Given the description of an element on the screen output the (x, y) to click on. 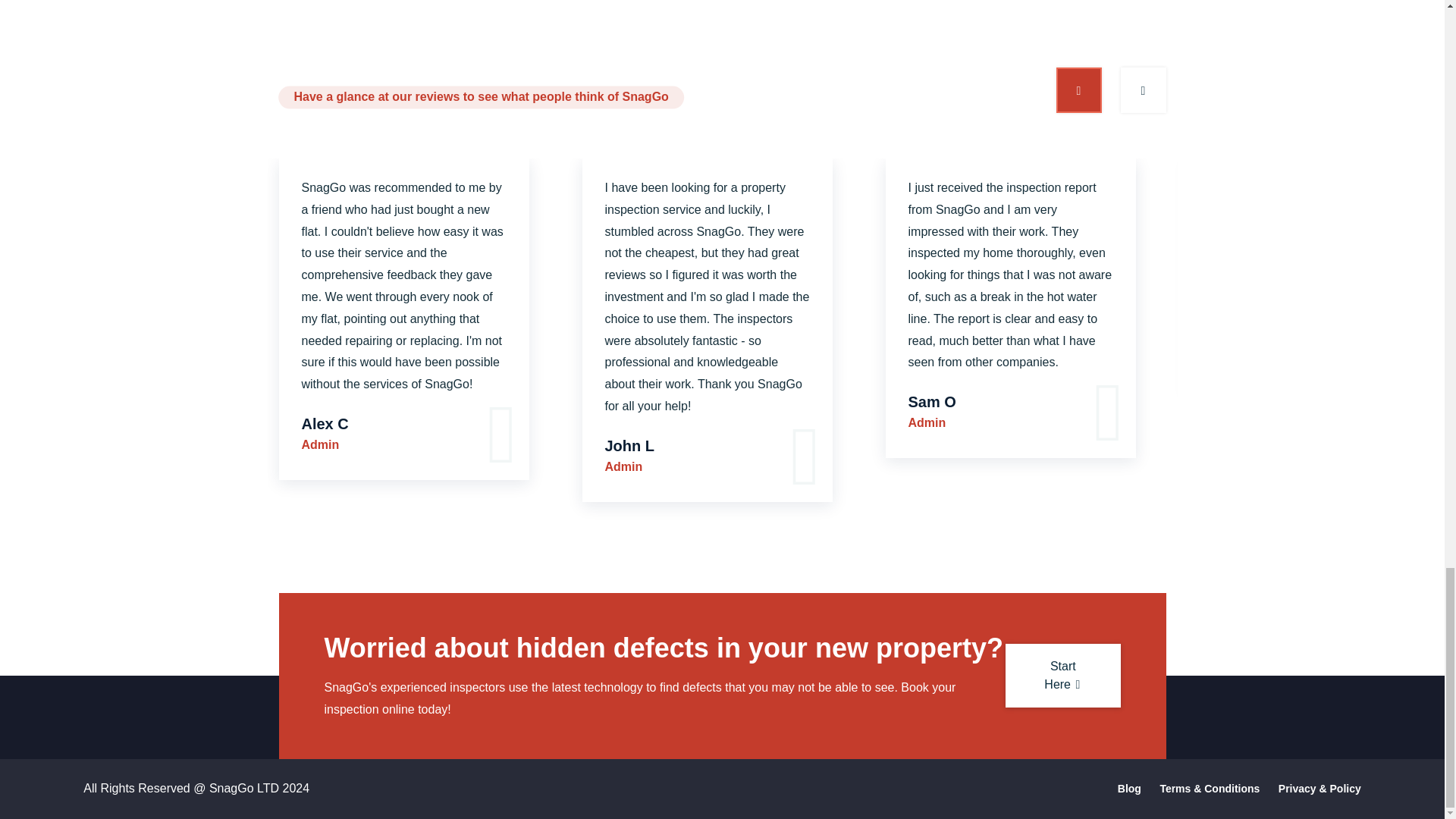
Blog (1129, 788)
Start Here (1062, 675)
